Given the description of an element on the screen output the (x, y) to click on. 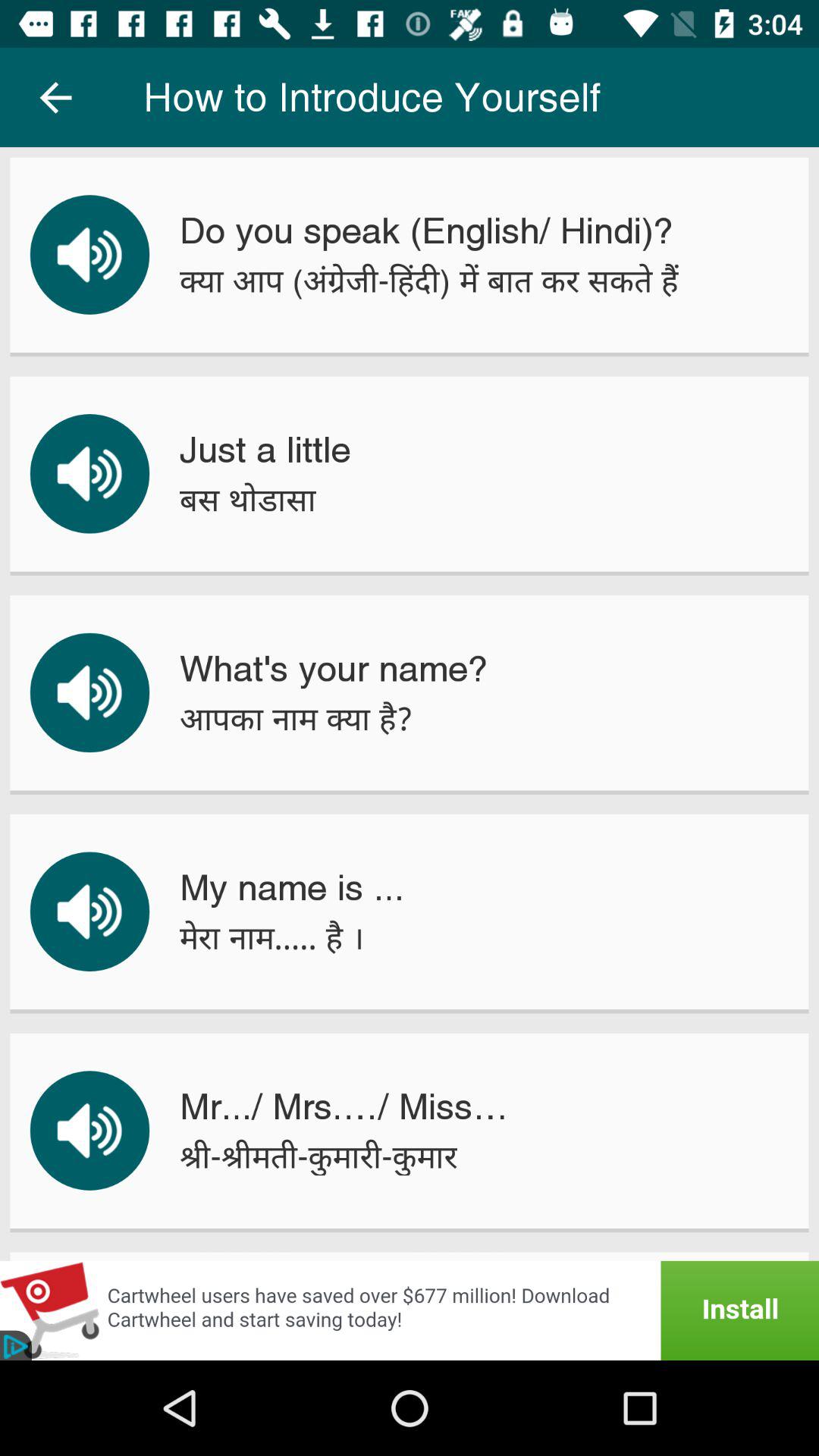
tap the icon below the just a little item (247, 499)
